Given the description of an element on the screen output the (x, y) to click on. 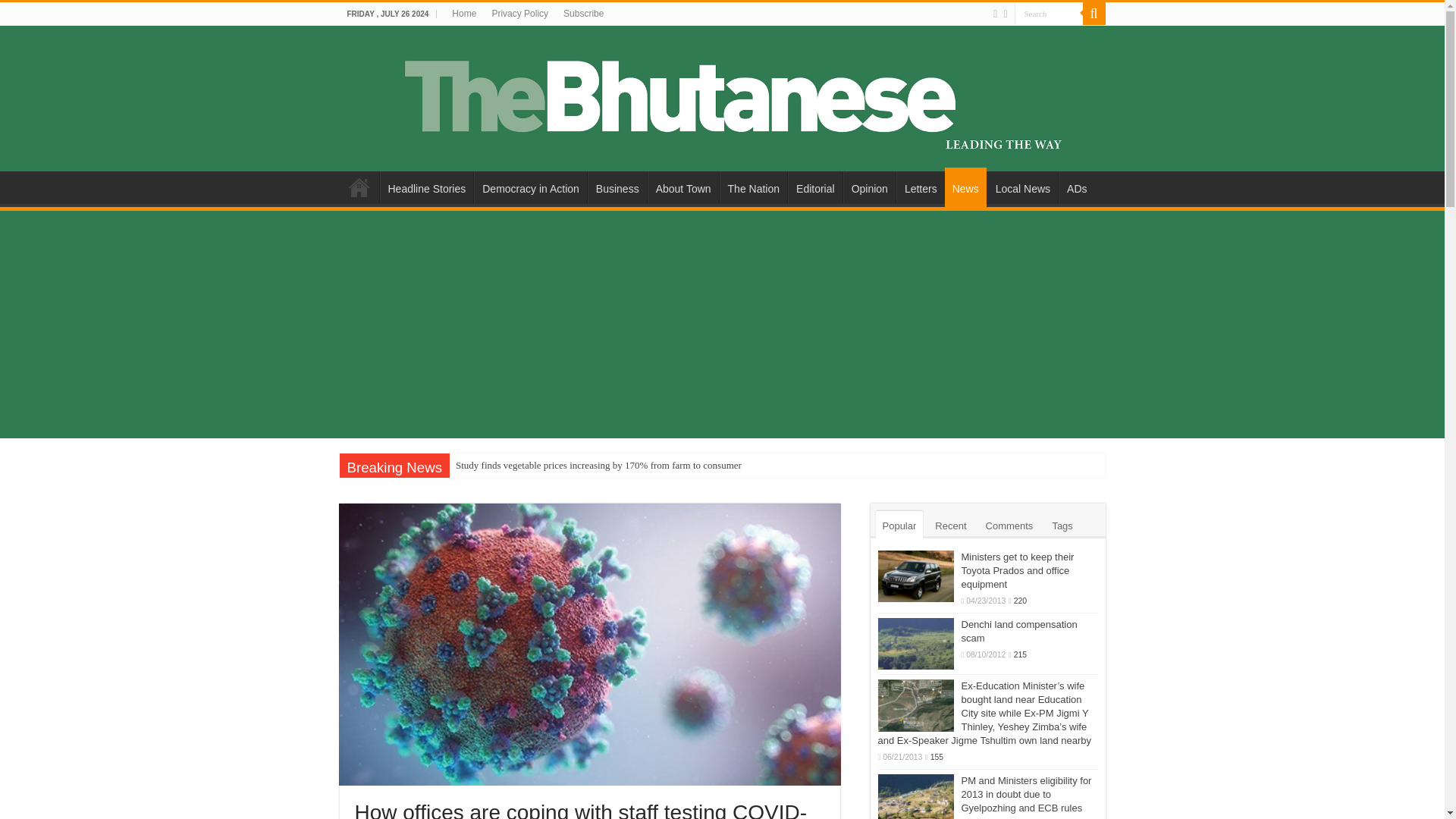
Search (1048, 13)
The Bhutanese (721, 94)
Search (1094, 13)
HOME (358, 187)
Search (1048, 13)
Headline Stories (425, 187)
Letters (920, 187)
Local News (1022, 187)
The Nation (753, 187)
News (965, 187)
Search (1048, 13)
ADs (1076, 187)
Democracy in Action (530, 187)
Opinion (869, 187)
Editorial (815, 187)
